Given the description of an element on the screen output the (x, y) to click on. 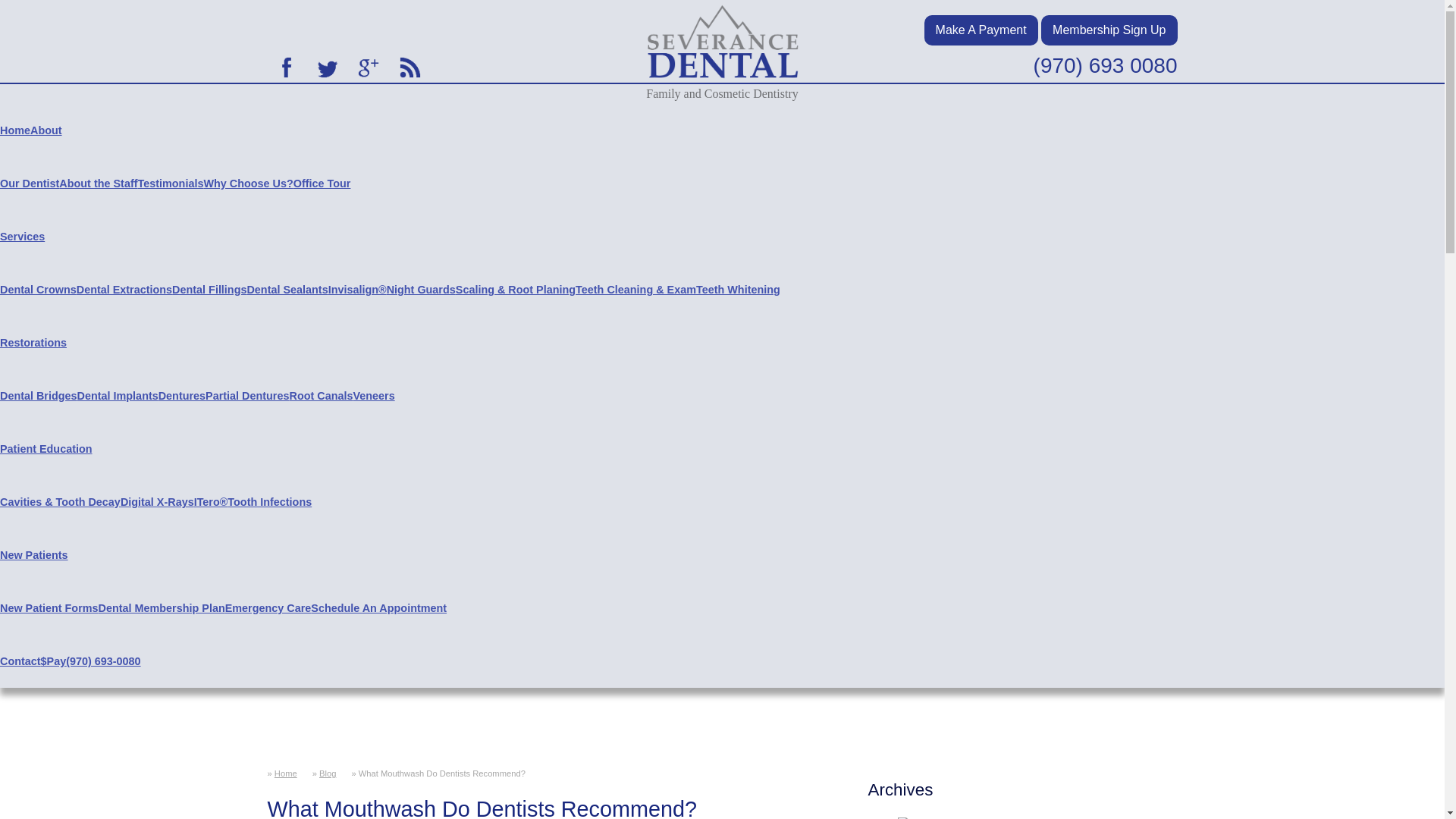
Digital X-Rays (156, 501)
Patient Education (46, 449)
Home (15, 130)
Dental Implants (117, 395)
Dental Extractions (124, 289)
Services (22, 236)
Root Canals (320, 395)
Restorations (33, 342)
Dentures (181, 395)
Why Choose Us? (247, 183)
